Given the description of an element on the screen output the (x, y) to click on. 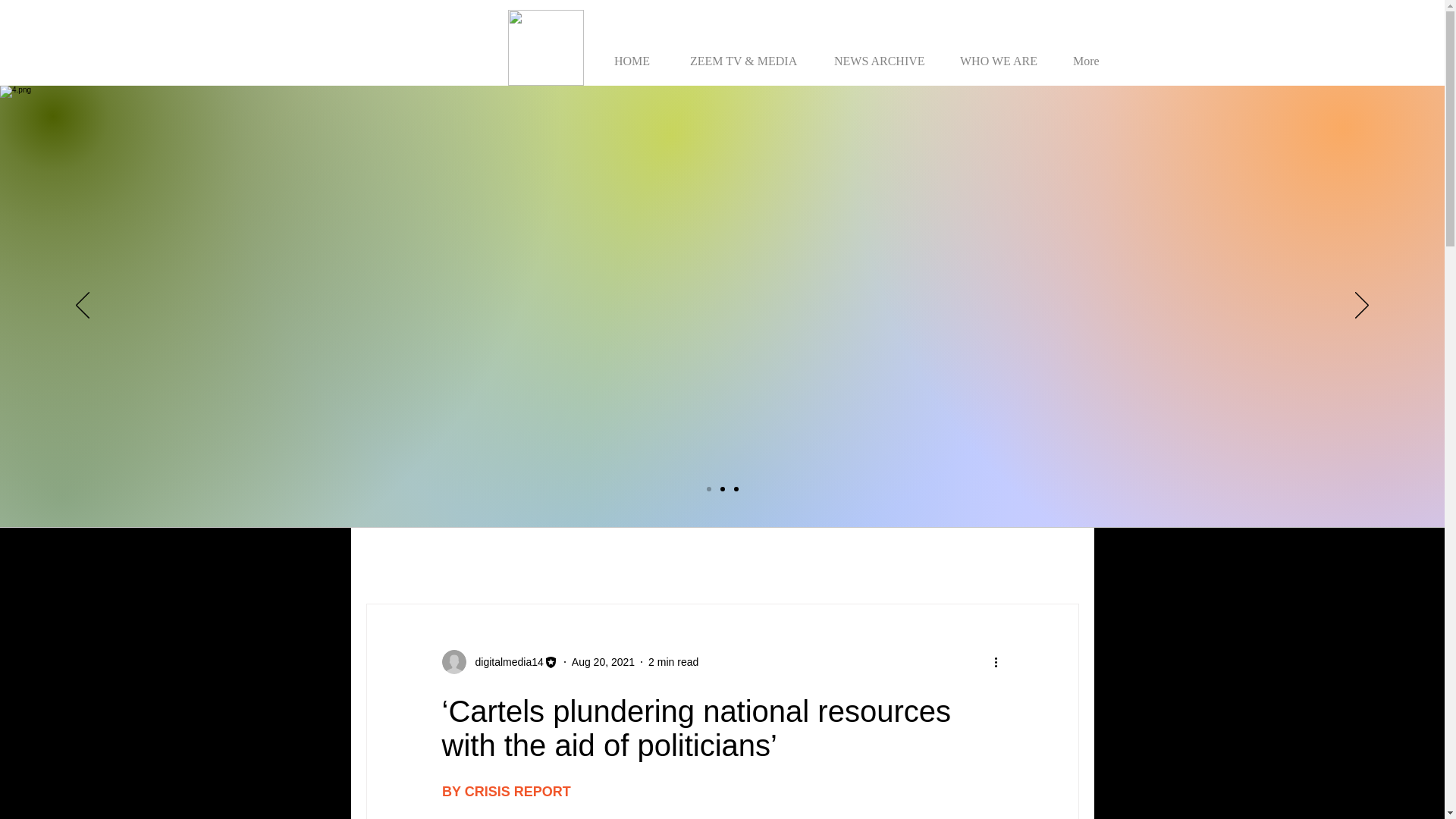
WHO WE ARE (1002, 53)
digitalmedia14 (499, 662)
NEWS ARCHIVE (883, 53)
digitalmedia14 (504, 661)
Aug 20, 2021 (603, 661)
2 min read (672, 661)
HOME (638, 53)
